Given the description of an element on the screen output the (x, y) to click on. 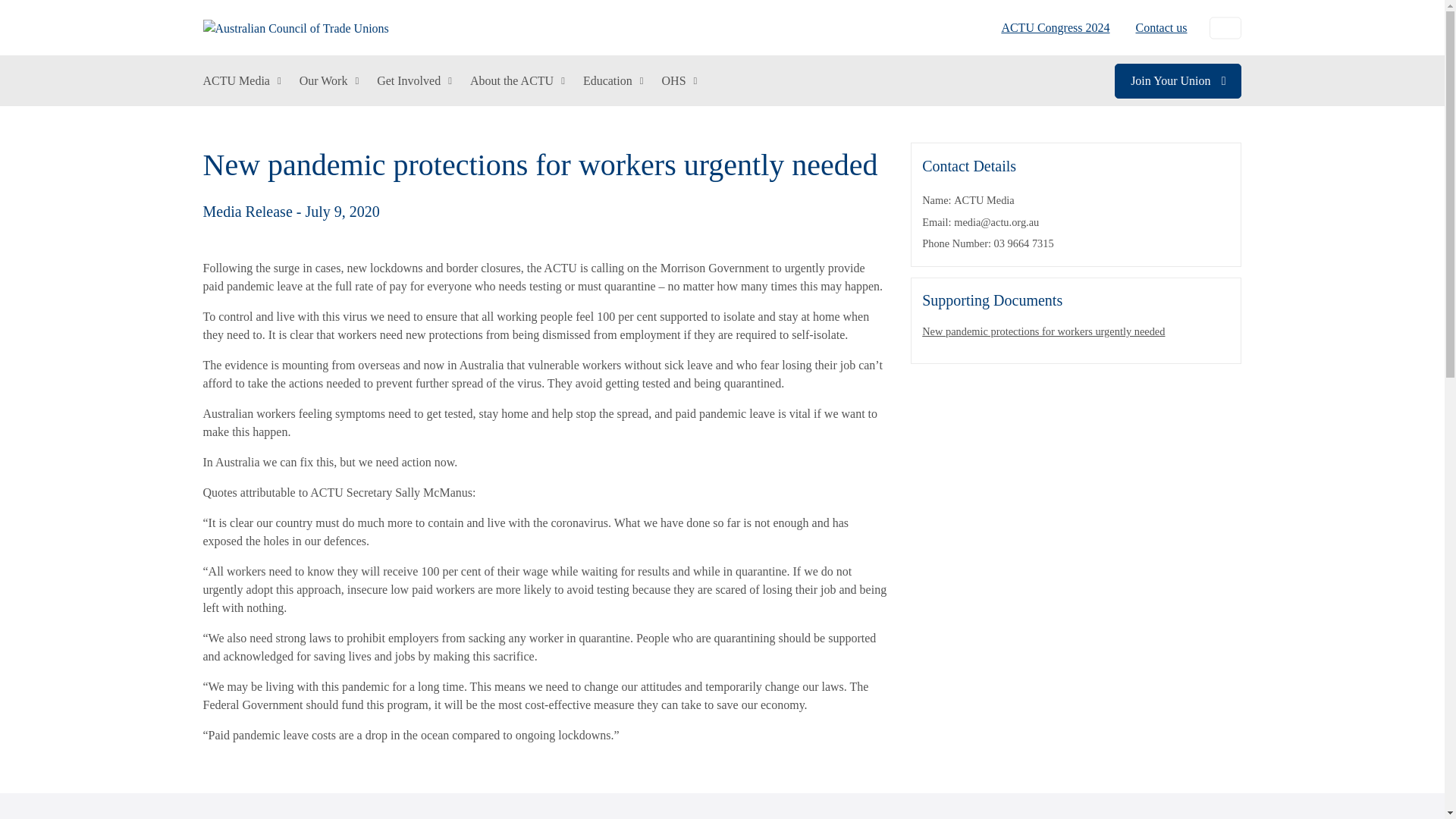
ACTU Congress 2024 (1055, 27)
ACTU Media (242, 81)
Contact us (1155, 27)
Join Your Union (1178, 80)
ACTU Congress 2024 (1055, 27)
Contact us (1155, 27)
